Given the description of an element on the screen output the (x, y) to click on. 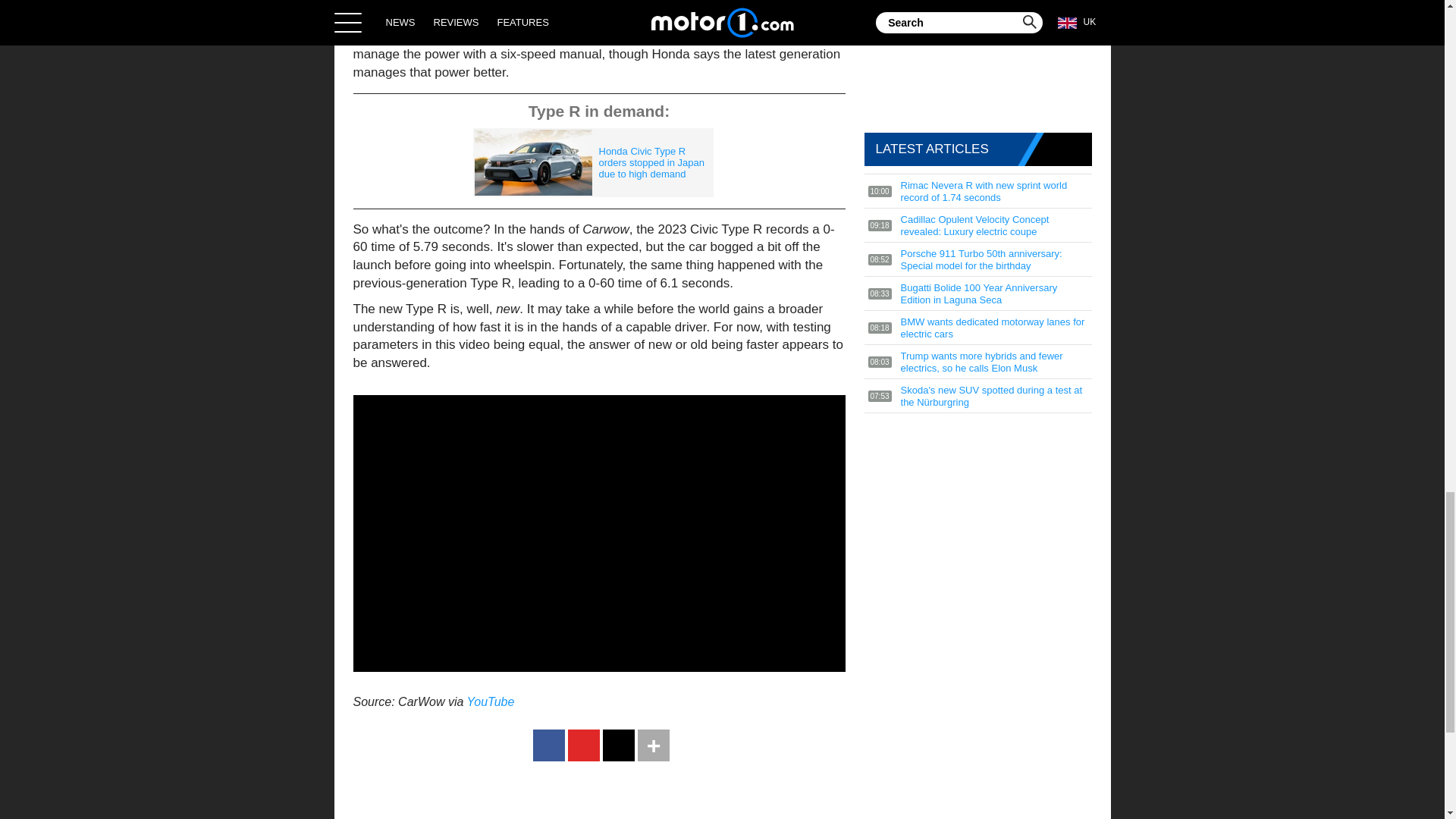
2023 Civic Type R (513, 18)
YouTube (491, 701)
